Given the description of an element on the screen output the (x, y) to click on. 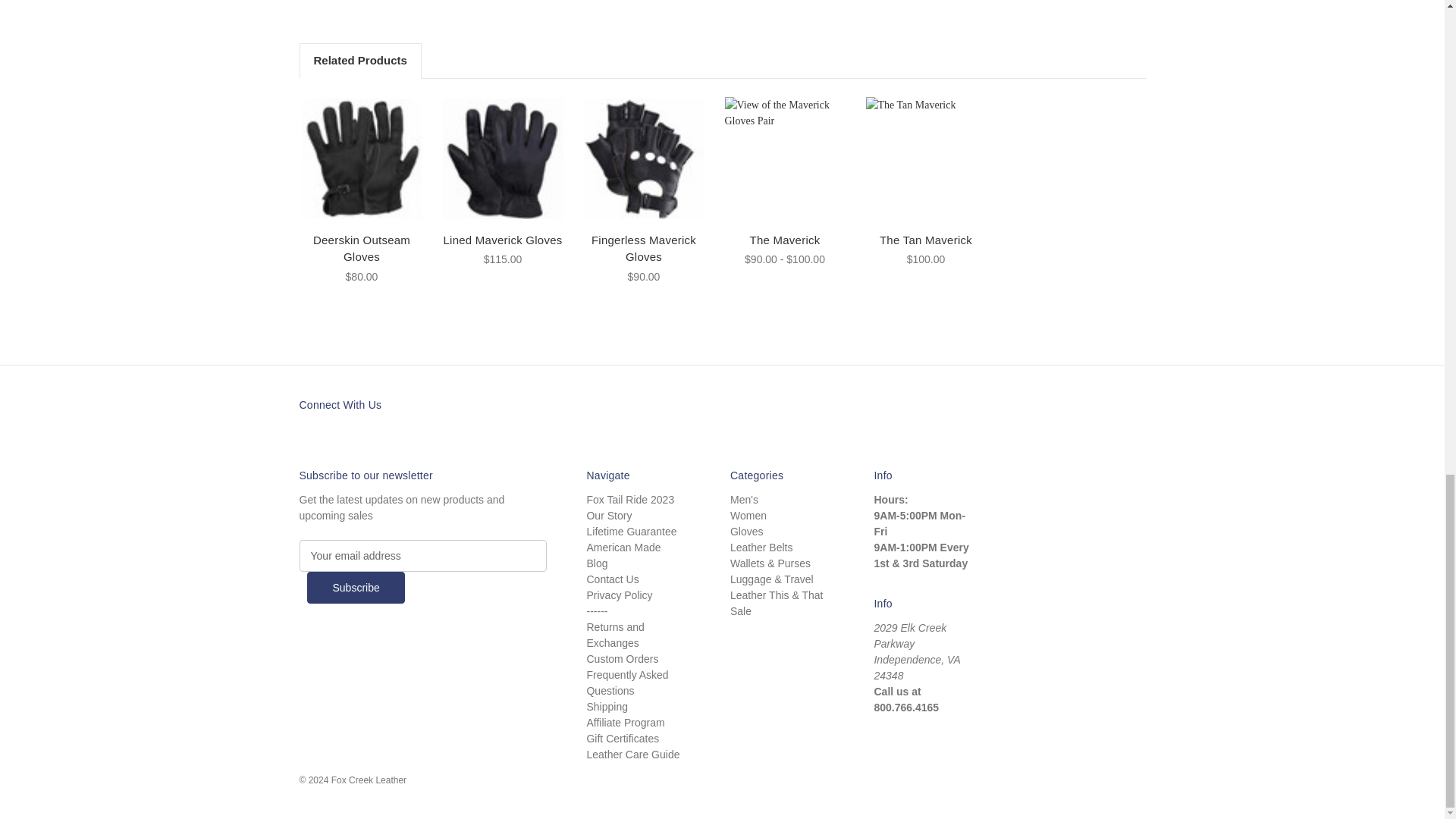
Lined Maverick Pair (502, 158)
View of the Maverick Gloves Pair (785, 159)
Pair view of our Fingerless Maverick Gloves. (643, 158)
Pair view of our Deerskin Outseam Gloves. (361, 158)
Subscribe (355, 587)
